Given the description of an element on the screen output the (x, y) to click on. 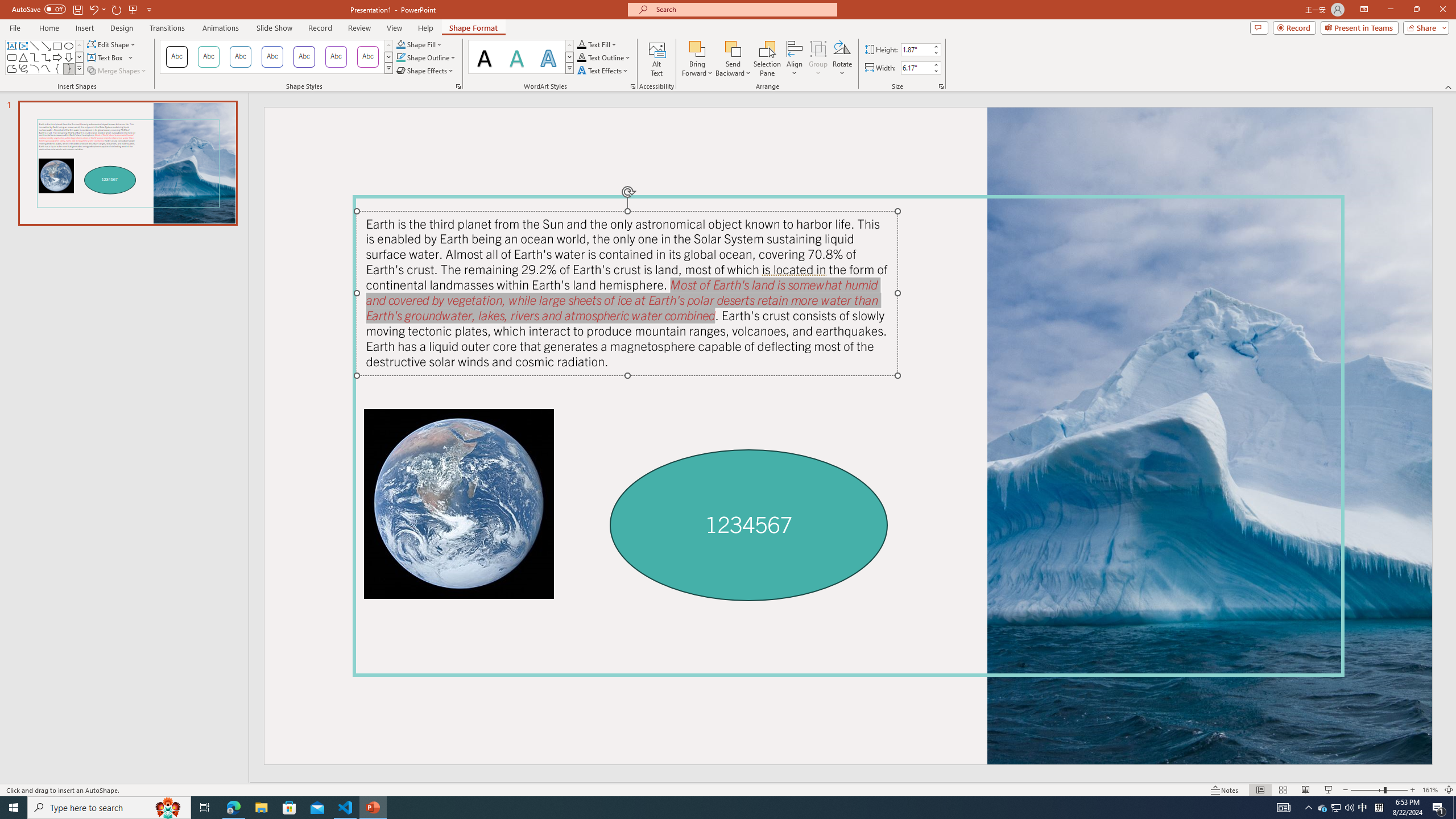
Present in Teams (1359, 27)
Quick Styles (568, 67)
Slide Show (273, 28)
Oval (68, 45)
Text Outline RGB(0, 0, 0) (581, 56)
Share (1423, 27)
Row up (568, 45)
Microsoft search (742, 9)
Format Object... (458, 85)
Alt Text (656, 58)
Restore Down (1416, 9)
Design (122, 28)
AutoSave (38, 9)
Text Box (11, 45)
Align (794, 58)
